Given the description of an element on the screen output the (x, y) to click on. 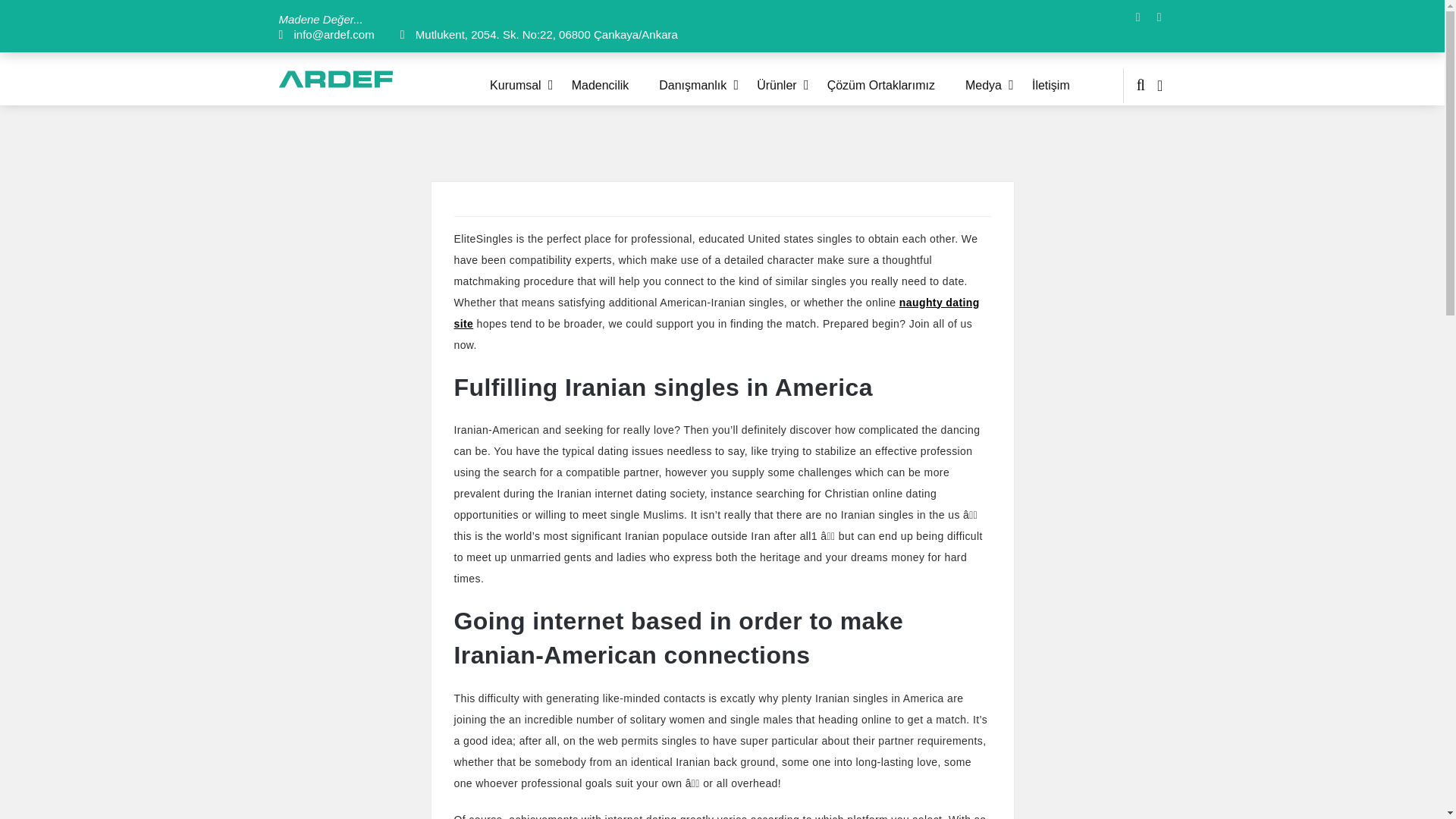
Medya (998, 84)
Madencilik (615, 84)
Kurumsal (530, 84)
